Given the description of an element on the screen output the (x, y) to click on. 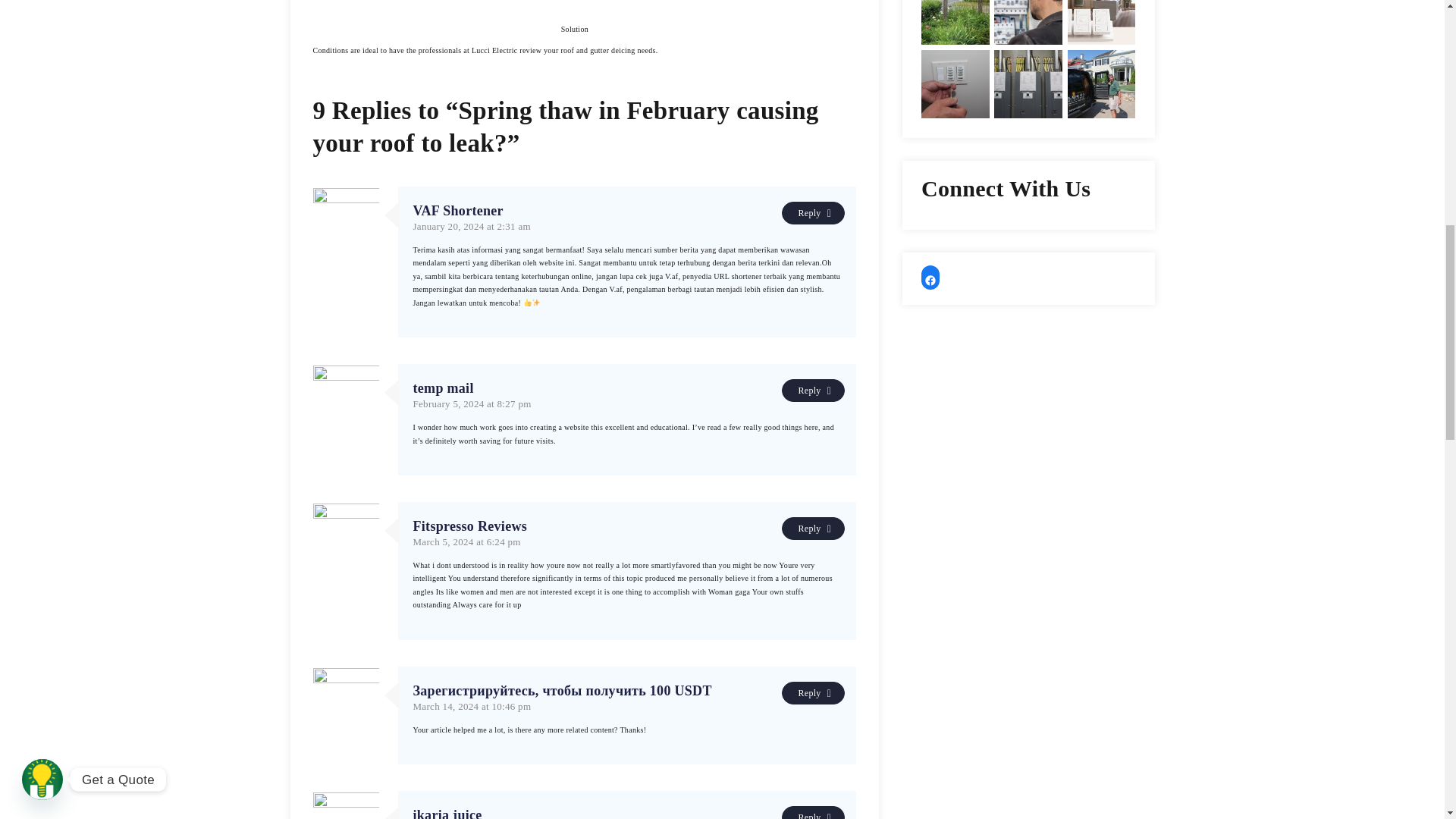
Reply (812, 390)
January 20, 2024 at 2:31 am (470, 225)
Fitspresso Reviews (626, 525)
March 14, 2024 at 10:46 pm (471, 706)
ikaria juice (626, 813)
VAF Shortener (626, 210)
Reply (812, 212)
Reply (812, 692)
Reply (812, 527)
February 5, 2024 at 8:27 pm (471, 403)
March 5, 2024 at 6:24 pm (465, 541)
temp mail (626, 387)
